Given the description of an element on the screen output the (x, y) to click on. 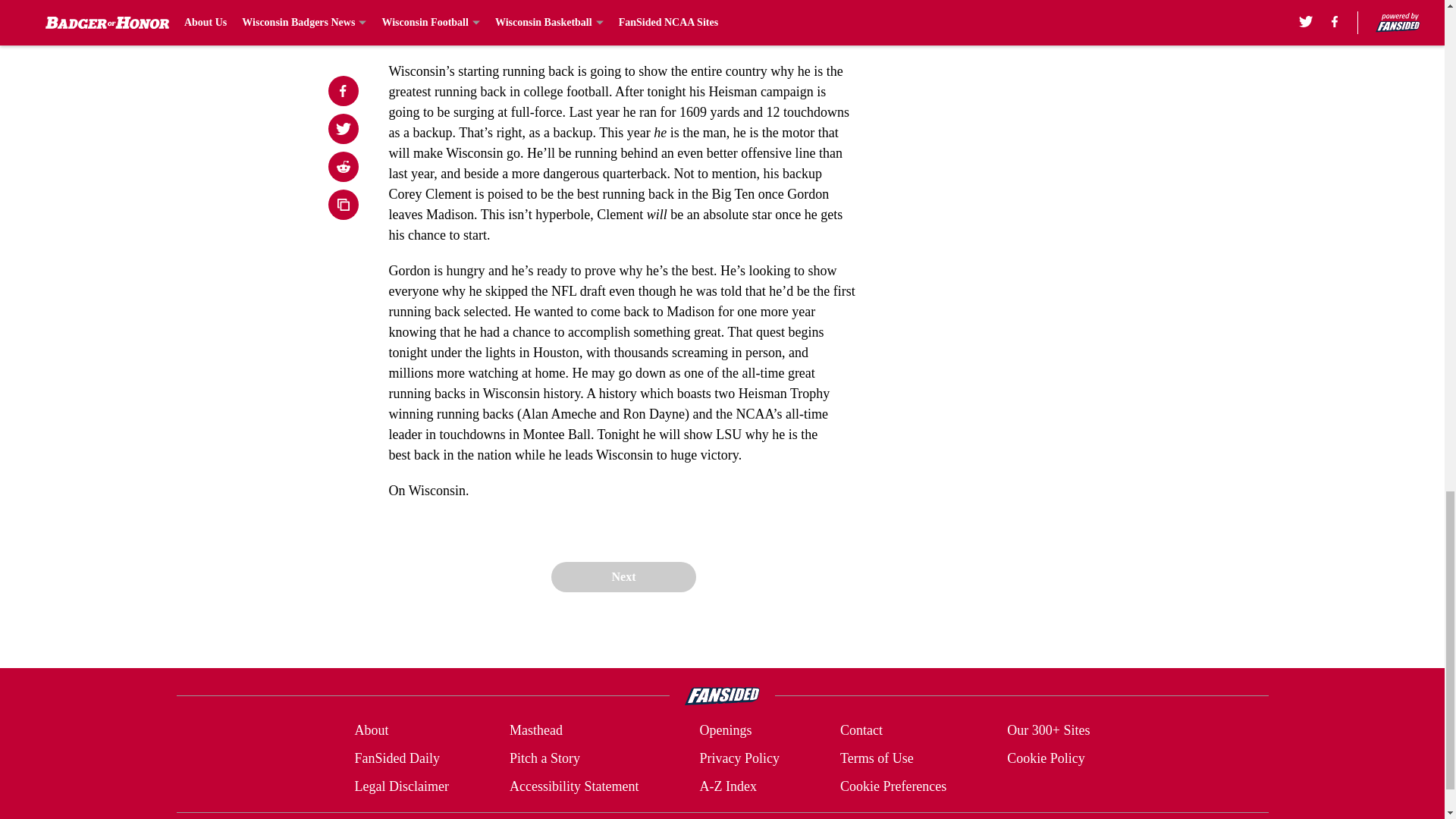
Privacy Policy (738, 758)
Openings (724, 730)
Cookie Policy (1045, 758)
FanSided Daily (396, 758)
Masthead (535, 730)
About (370, 730)
Legal Disclaimer (400, 786)
Contact (861, 730)
Terms of Use (877, 758)
Next (622, 576)
Pitch a Story (544, 758)
